Given the description of an element on the screen output the (x, y) to click on. 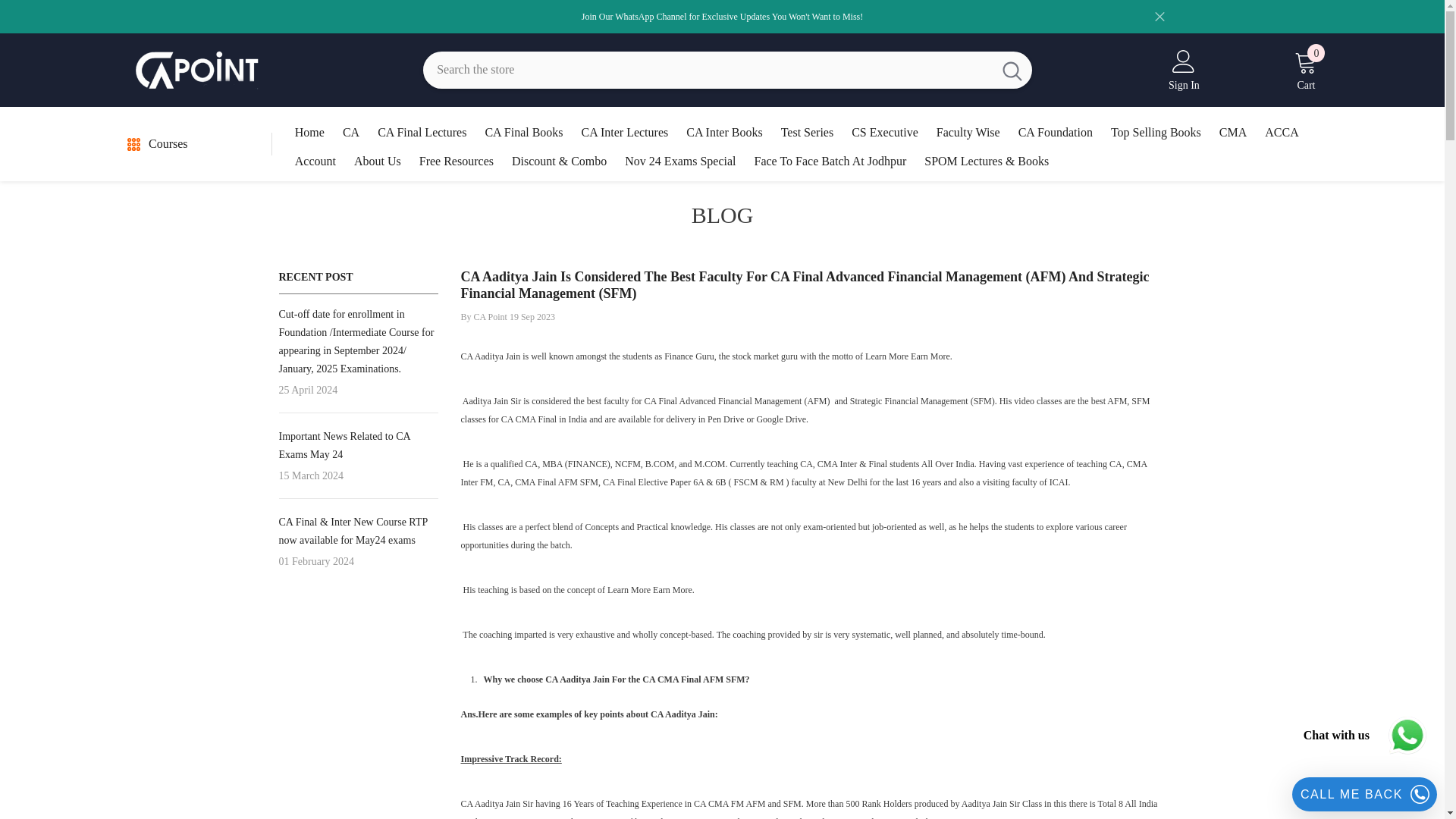
Home (309, 137)
CA (350, 137)
Sign In (1184, 69)
Close (1305, 69)
